Given the description of an element on the screen output the (x, y) to click on. 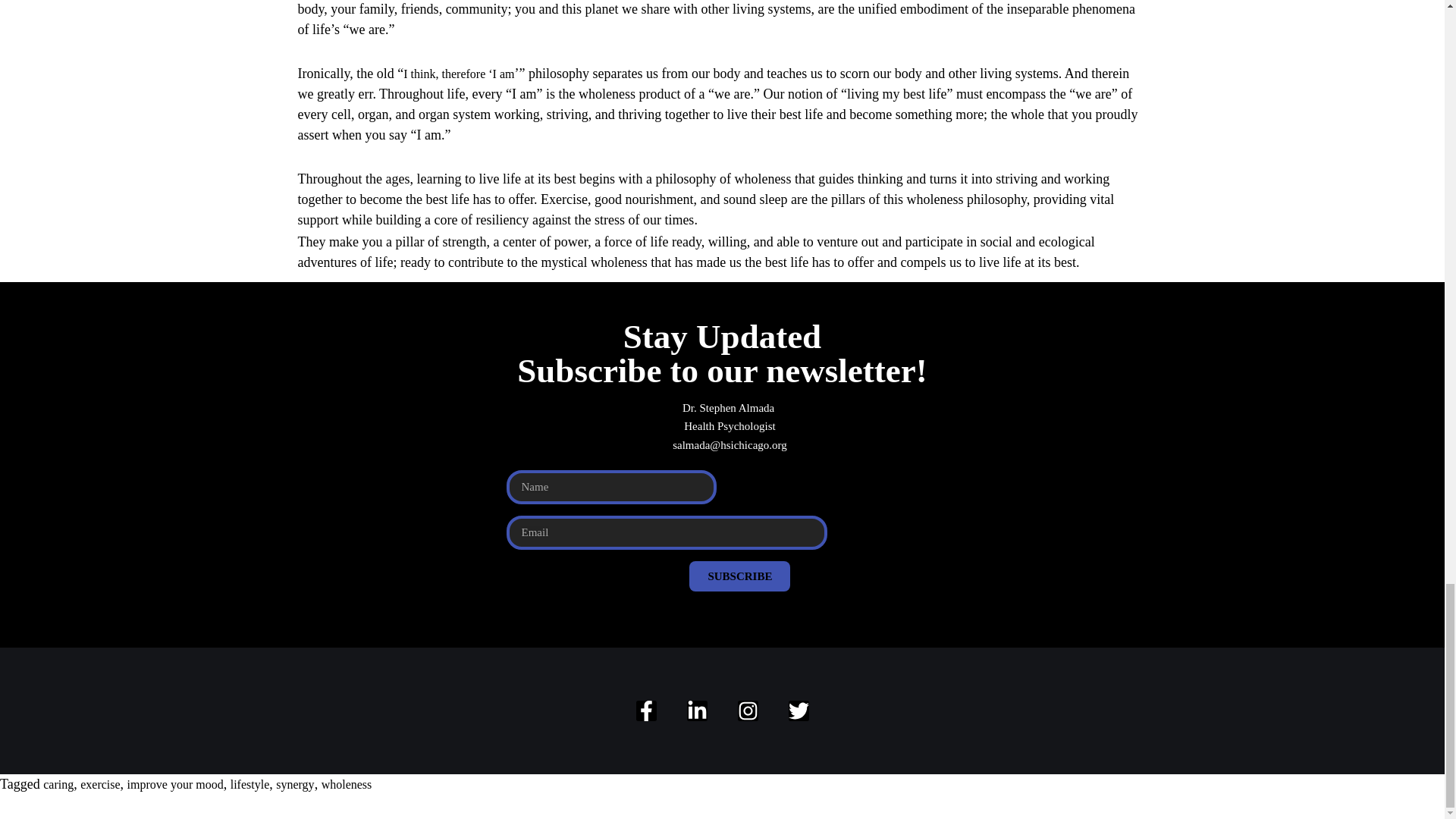
exercise (99, 784)
caring (58, 784)
SUBSCRIBE (739, 576)
